Given the description of an element on the screen output the (x, y) to click on. 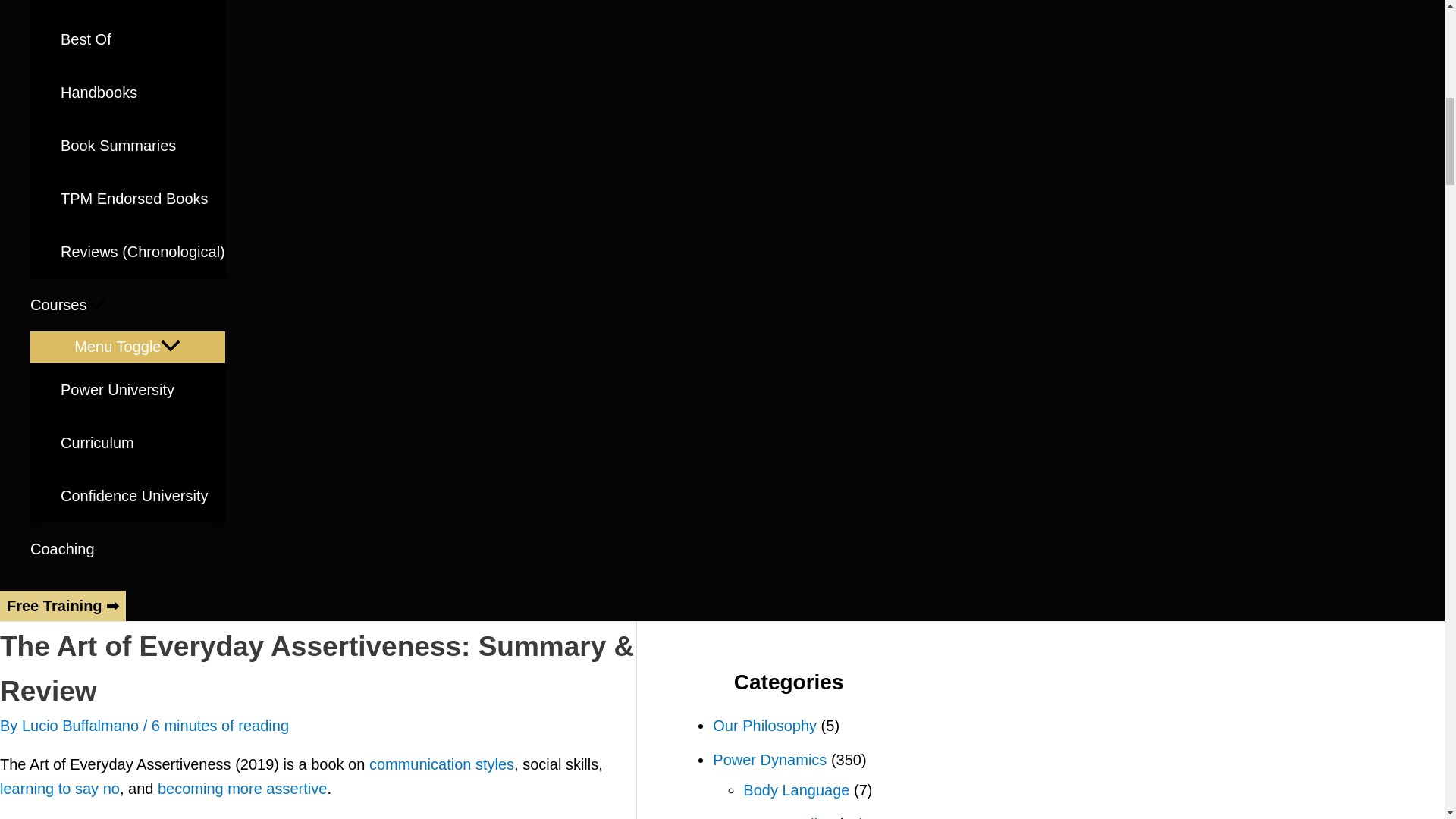
Book Summaries (143, 144)
Best Of (143, 39)
Courses (127, 304)
Menu Toggle (127, 346)
View all posts by Lucio Buffalmano (81, 725)
Power University (143, 389)
Handbooks (143, 92)
TPM Endorsed Books (143, 198)
The Social Strategist (143, 6)
Curriculum (143, 442)
